Given the description of an element on the screen output the (x, y) to click on. 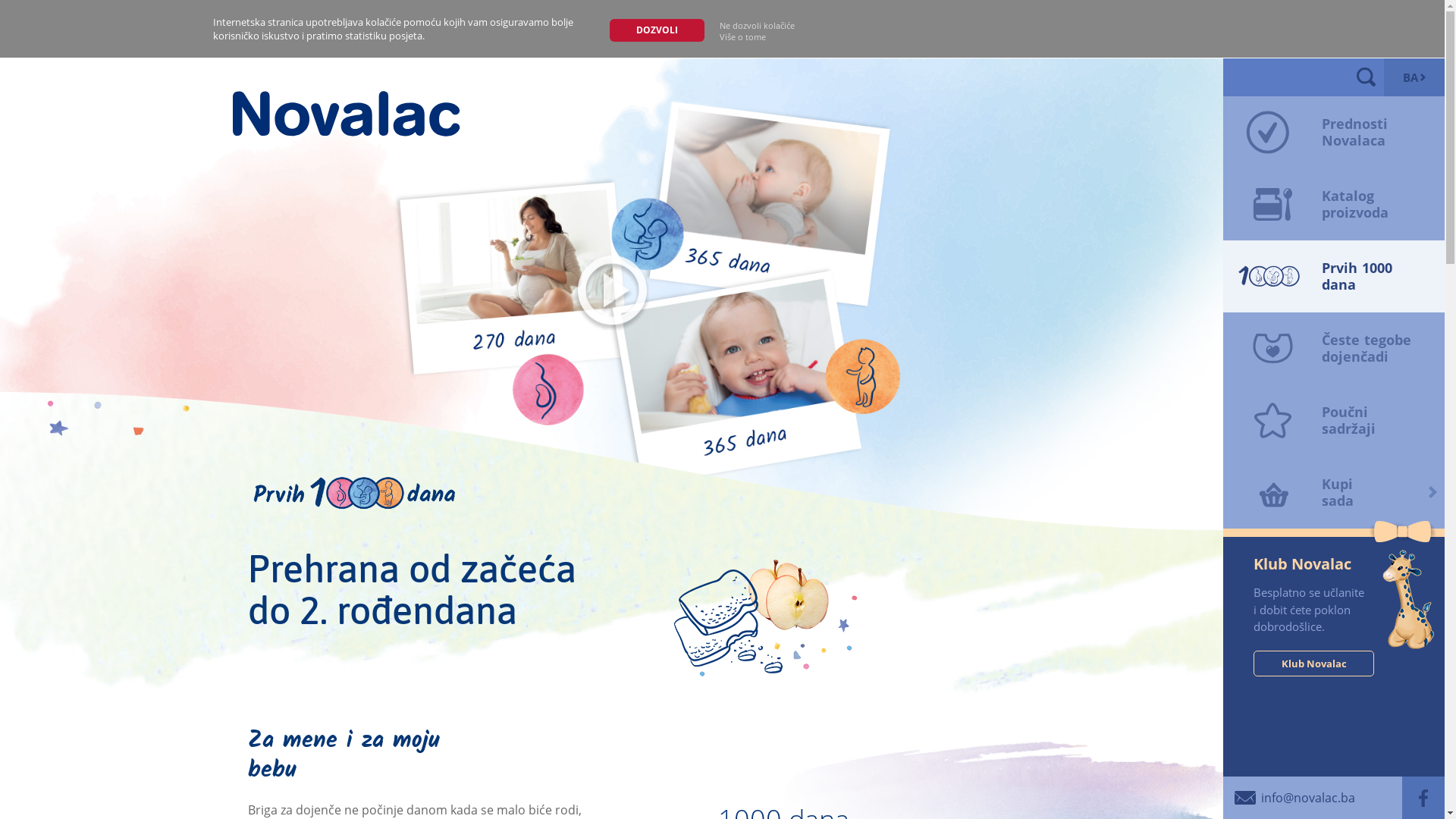
DOZVOLI Element type: text (656, 29)
Klub Novalac Element type: text (1333, 564)
info@novalac.ba Element type: text (1289, 797)
Prvih 1000 dana Element type: text (1333, 275)
Klub Novalac Element type: text (1313, 663)
Prednosti Novalaca Element type: text (1333, 131)
Kupi sada Element type: text (1333, 492)
Katalog proizvoda Element type: text (1333, 204)
Domov Element type: hover (345, 112)
